Given the description of an element on the screen output the (x, y) to click on. 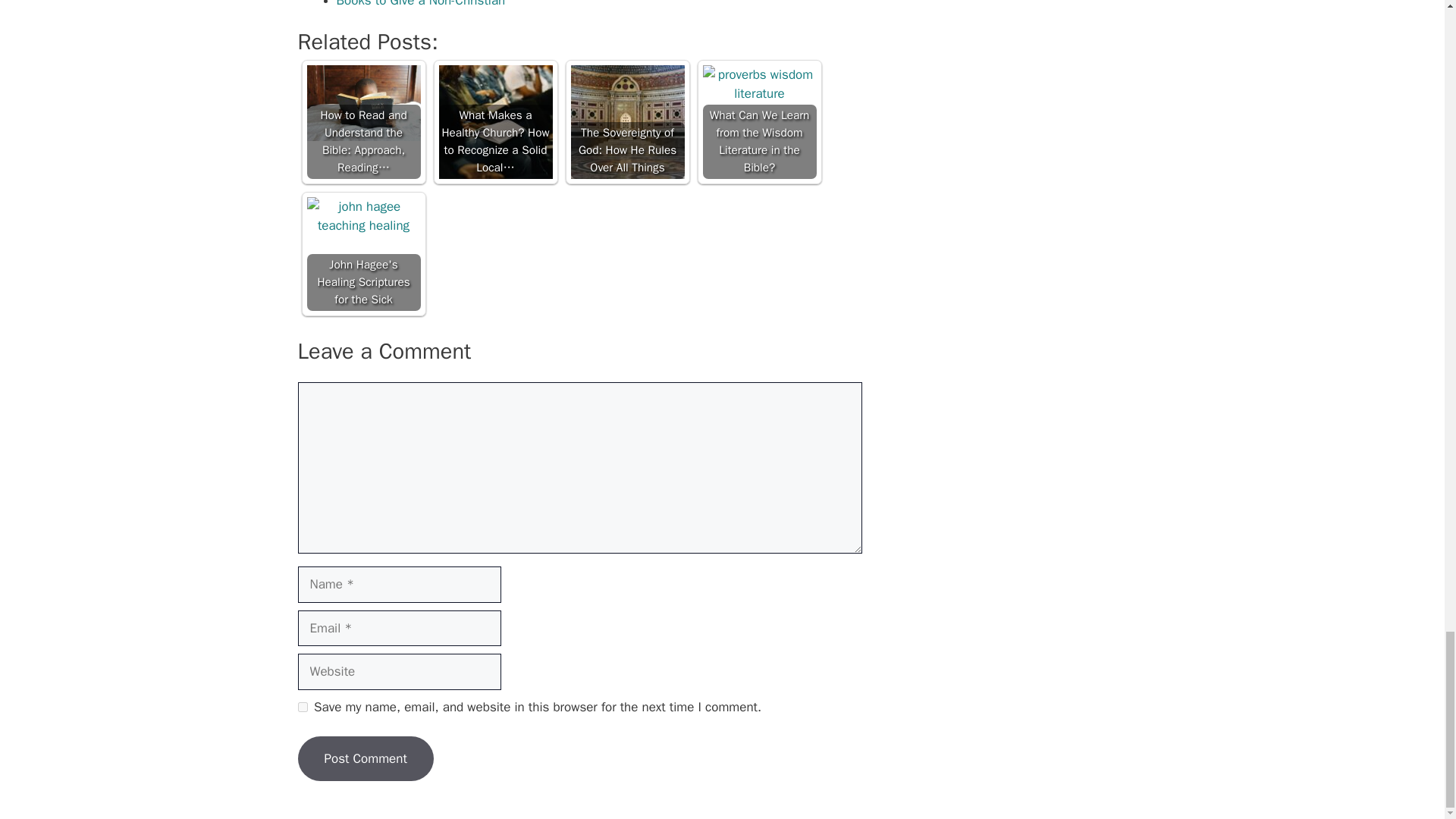
Post Comment (364, 759)
yes (302, 706)
